Given the description of an element on the screen output the (x, y) to click on. 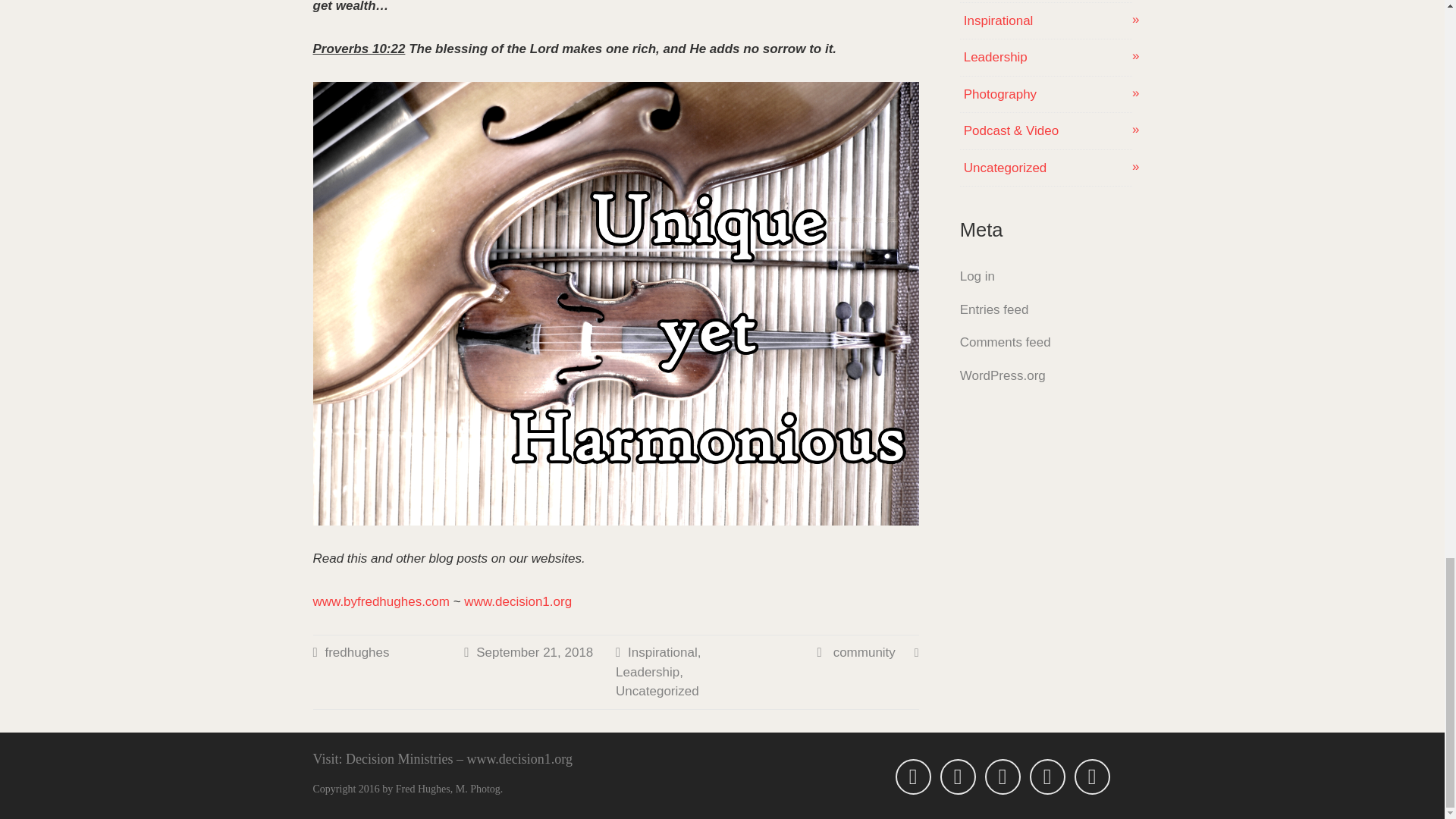
community (863, 652)
Inspirational (662, 652)
fredhughes (356, 652)
www.decision1.org (518, 601)
Leadership (647, 672)
www.byfredhughes.com (380, 601)
Uncategorized (656, 690)
